Given the description of an element on the screen output the (x, y) to click on. 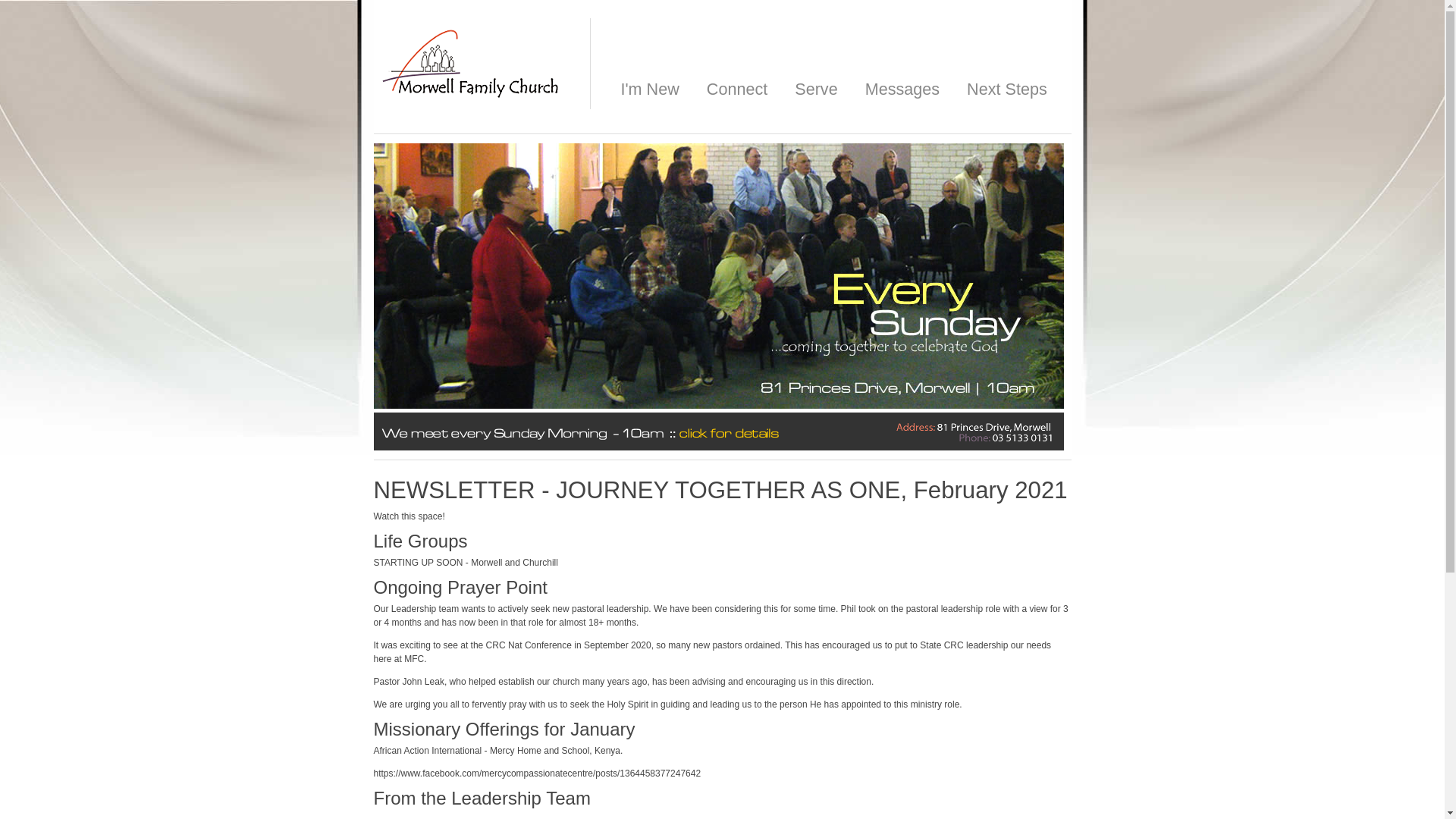
Serve Element type: text (815, 89)
Messages Element type: text (902, 89)
I'm New Element type: text (649, 89)
Connect Element type: text (736, 89)
Next Steps Element type: text (1006, 89)
